Given the description of an element on the screen output the (x, y) to click on. 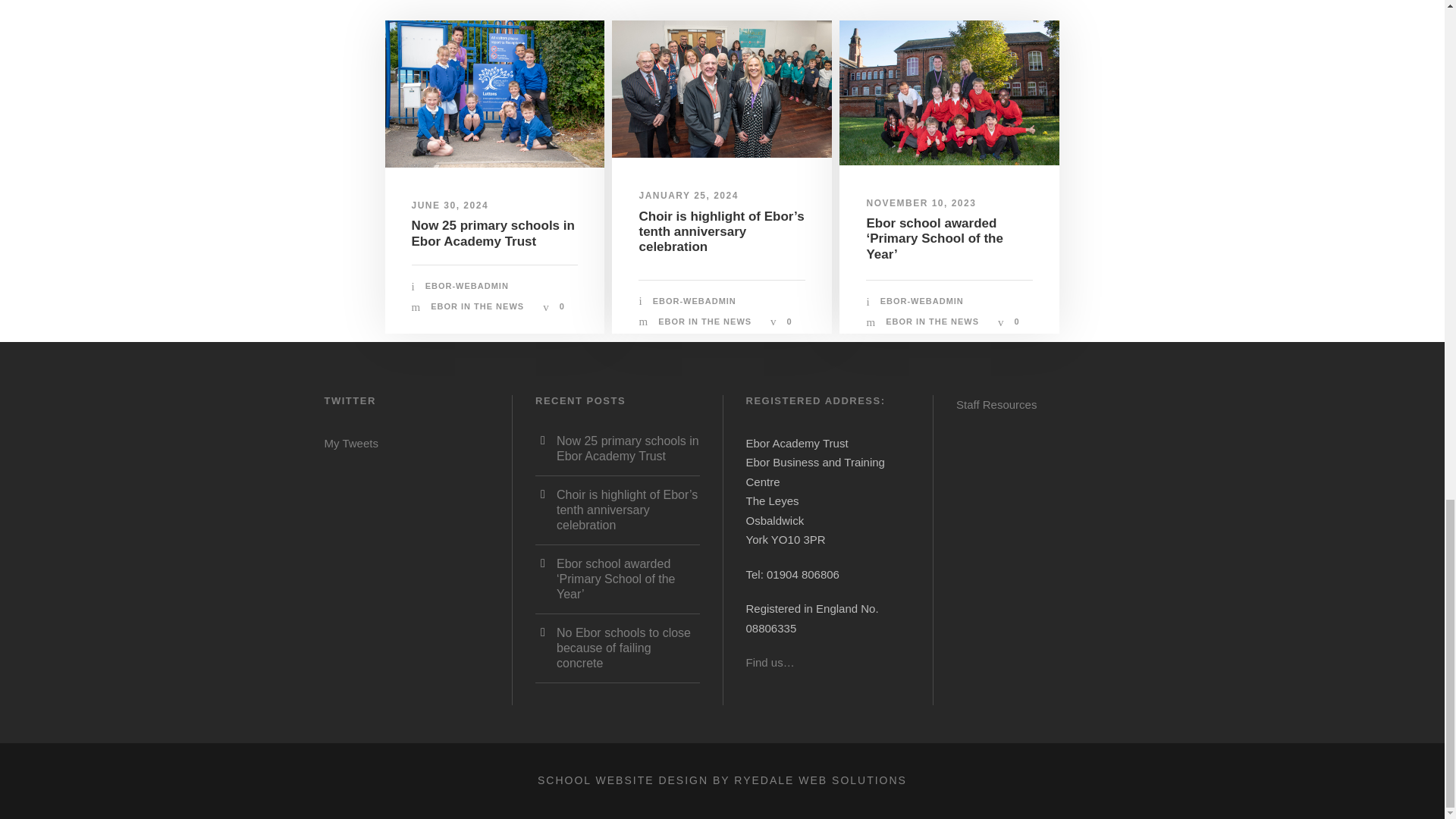
HRwinners1 (949, 92)
Tenthanniversary1 (721, 89)
Posts by ebor-webadmin (466, 285)
Posts by ebor-webadmin (921, 300)
Posts by ebor-webadmin (694, 300)
